Given the description of an element on the screen output the (x, y) to click on. 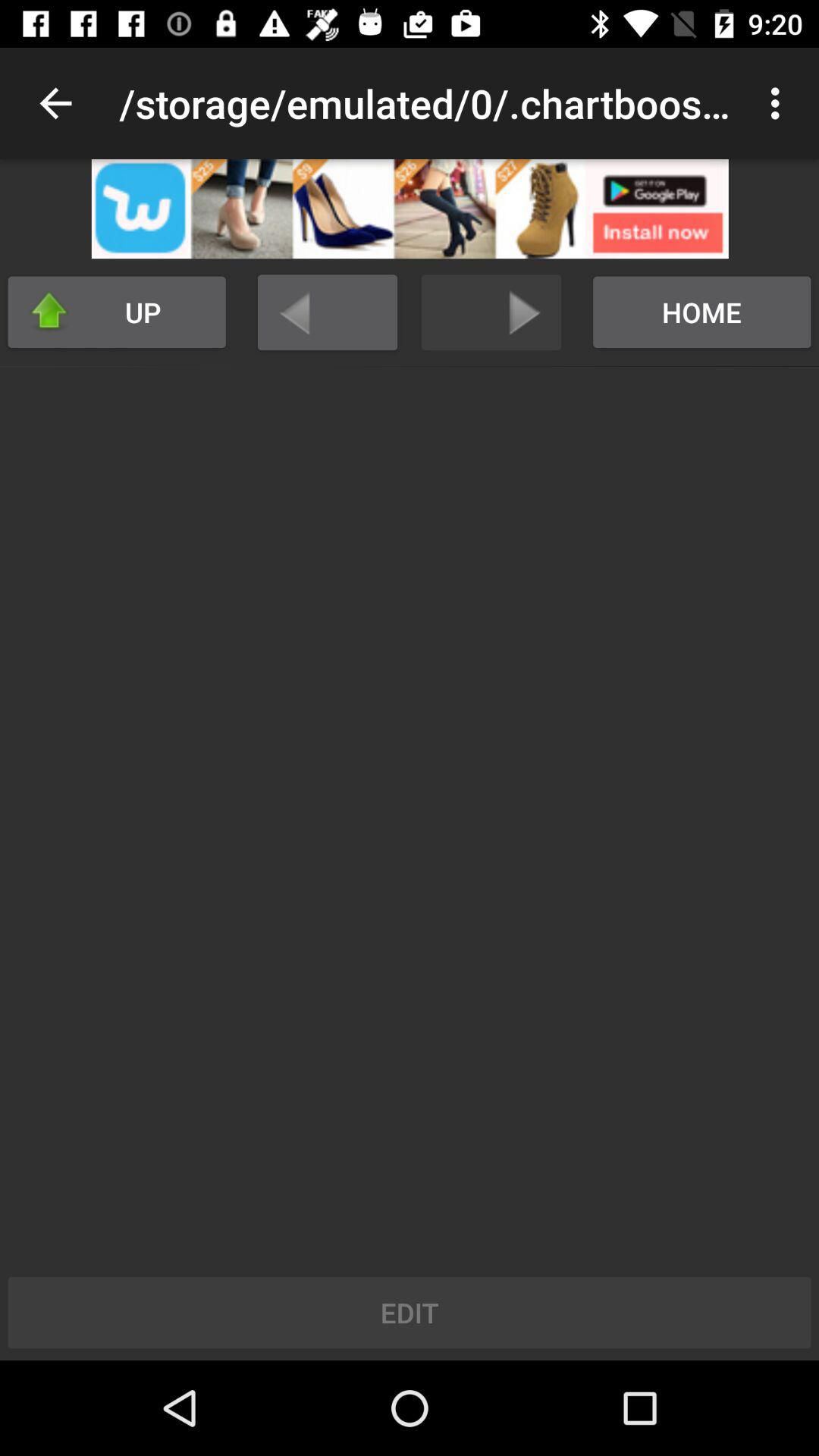
description (409, 208)
